Given the description of an element on the screen output the (x, y) to click on. 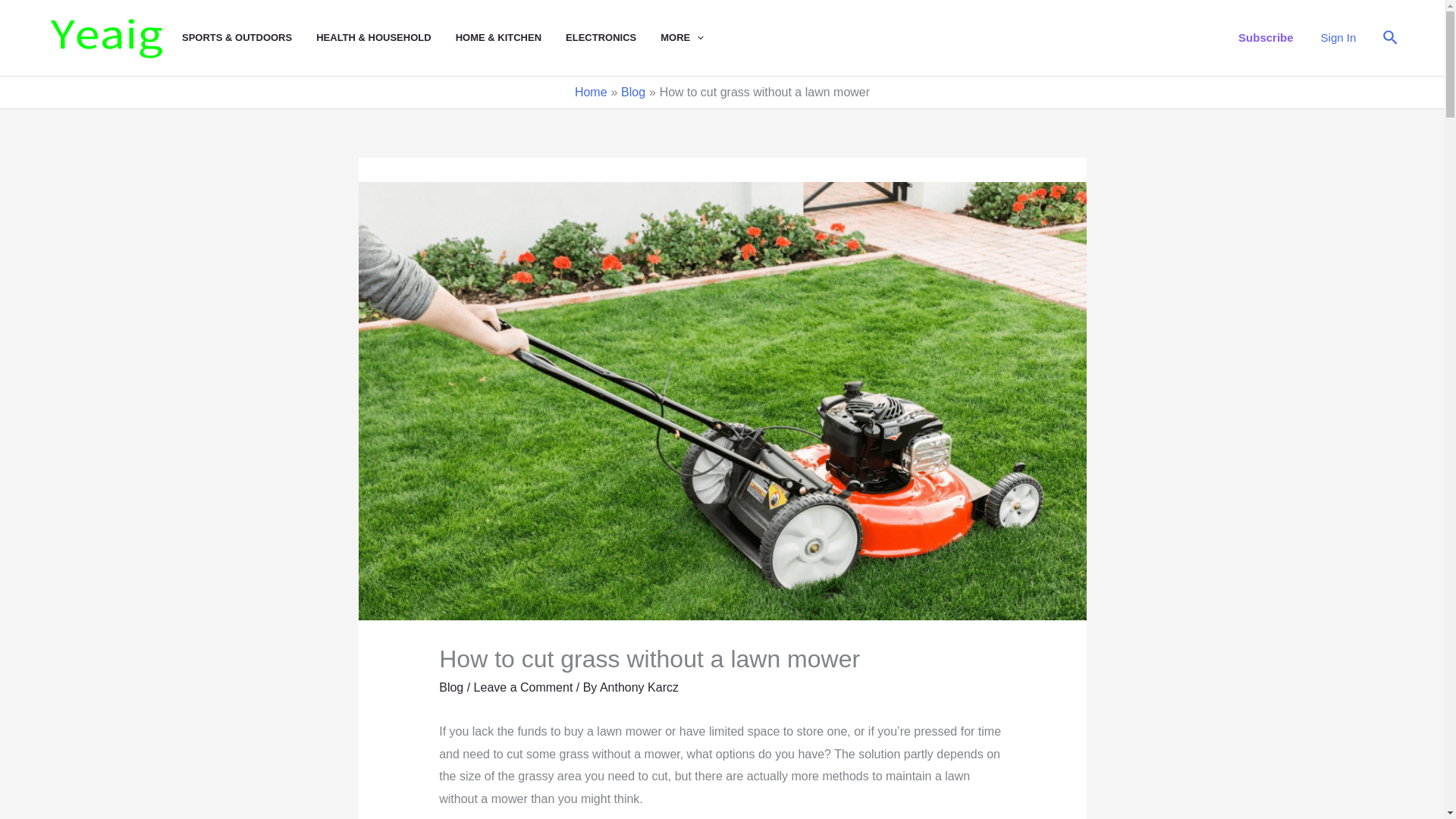
Leave a Comment (523, 686)
ELECTRONICS (613, 38)
Home (591, 91)
Sign In (1338, 37)
MORE (694, 38)
Subscribe (1266, 37)
Blog (633, 91)
Blog (451, 686)
View all posts by Anthony Karcz (638, 686)
